Given the description of an element on the screen output the (x, y) to click on. 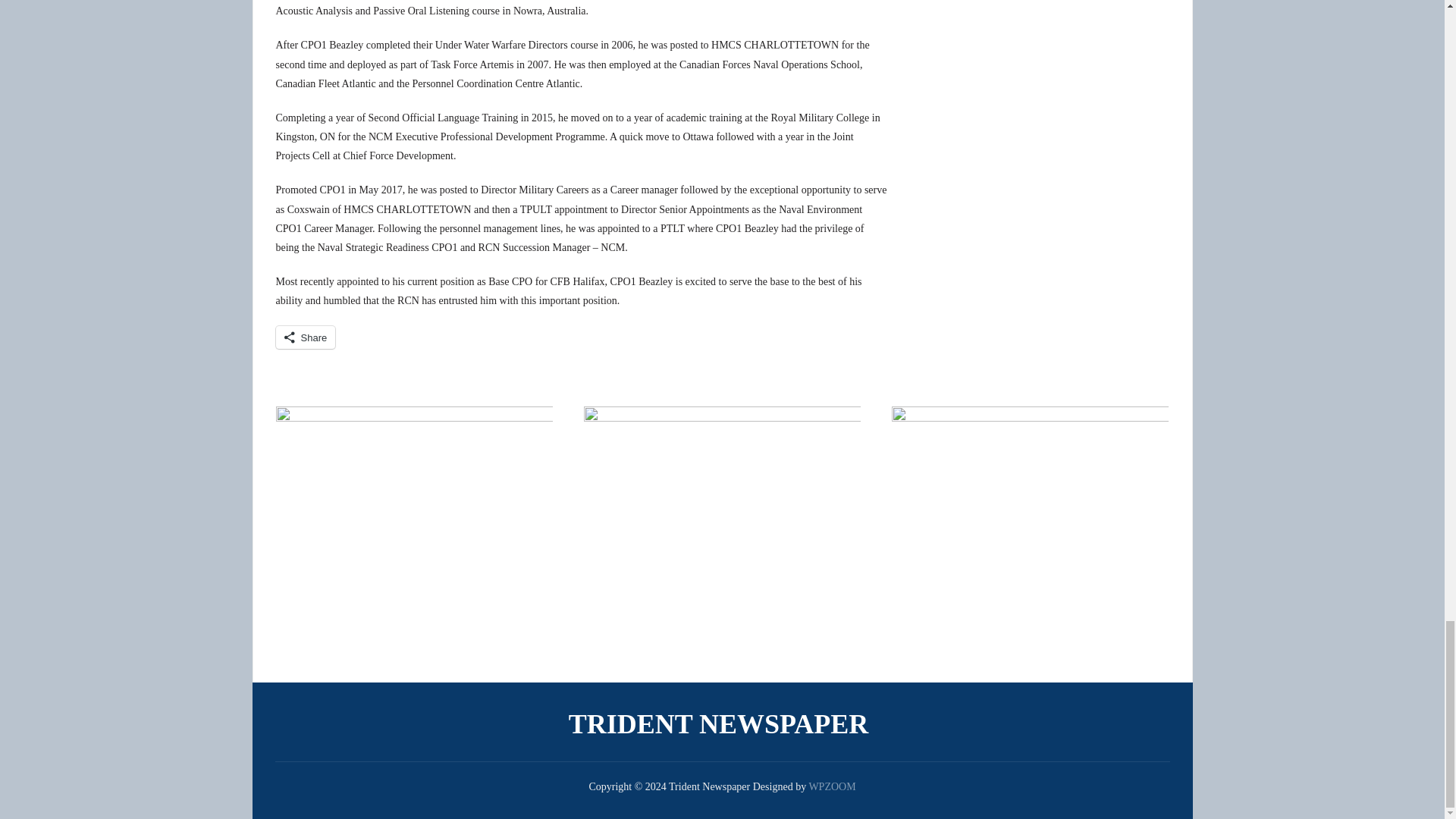
WPZOOM WordPress Themes (832, 786)
We hire military spouses! (1030, 521)
CFB Halifax Trident Navy Newspaper (722, 723)
